Given the description of an element on the screen output the (x, y) to click on. 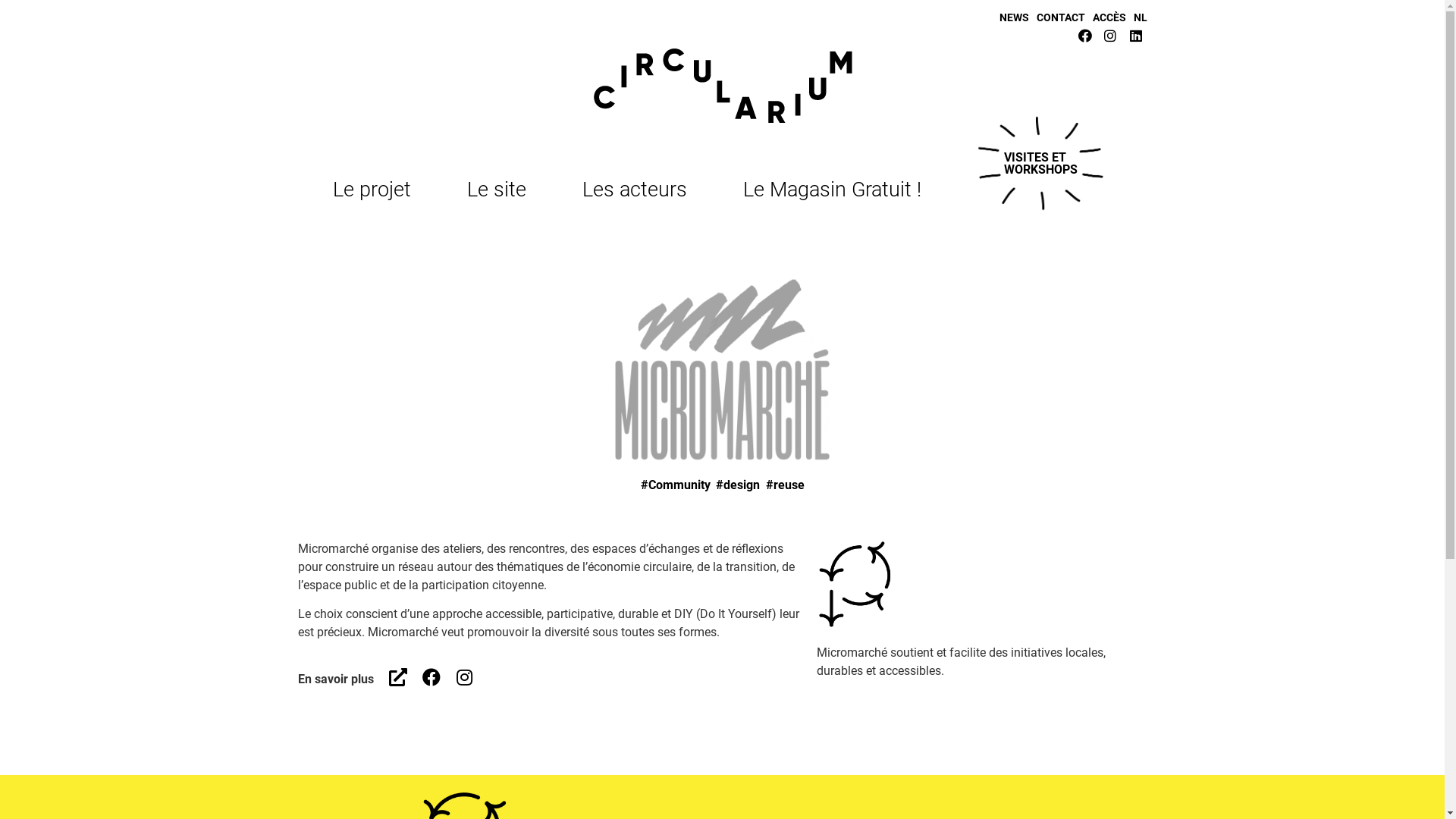
NL Element type: text (1139, 17)
Les acteurs Element type: text (638, 189)
CONTACT Element type: text (1059, 17)
Le Magasin Gratuit ! Element type: text (832, 189)
Le projet Element type: text (375, 189)
Le site Element type: text (500, 189)
NEWS Element type: text (1014, 17)
VISITES ET
WORKSHOPS Element type: text (1040, 163)
